Given the description of an element on the screen output the (x, y) to click on. 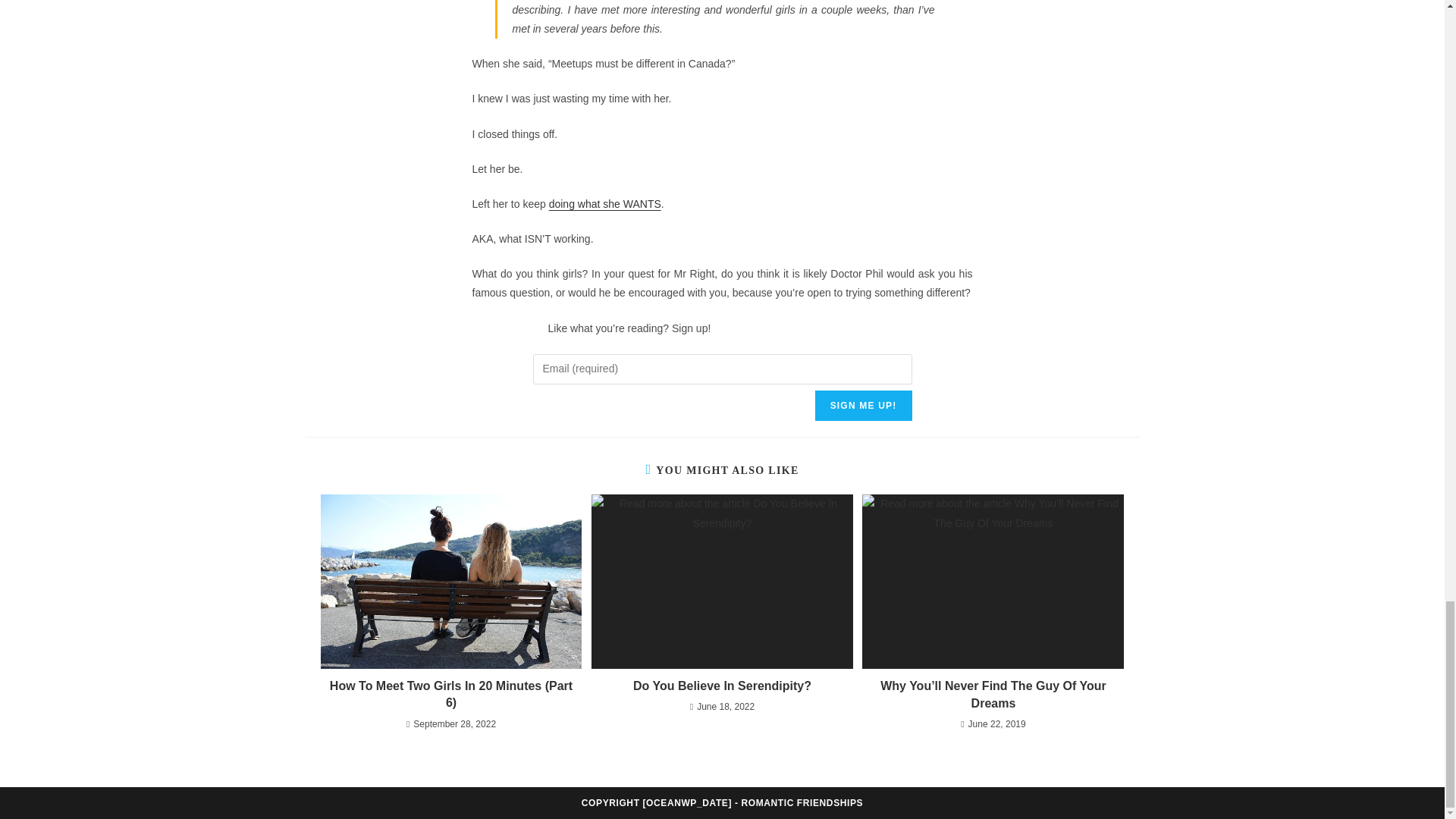
Sign me up! (863, 405)
doing what she WANTS (604, 203)
Sign me up! (863, 405)
Do You Believe In Serendipity? (721, 686)
